Given the description of an element on the screen output the (x, y) to click on. 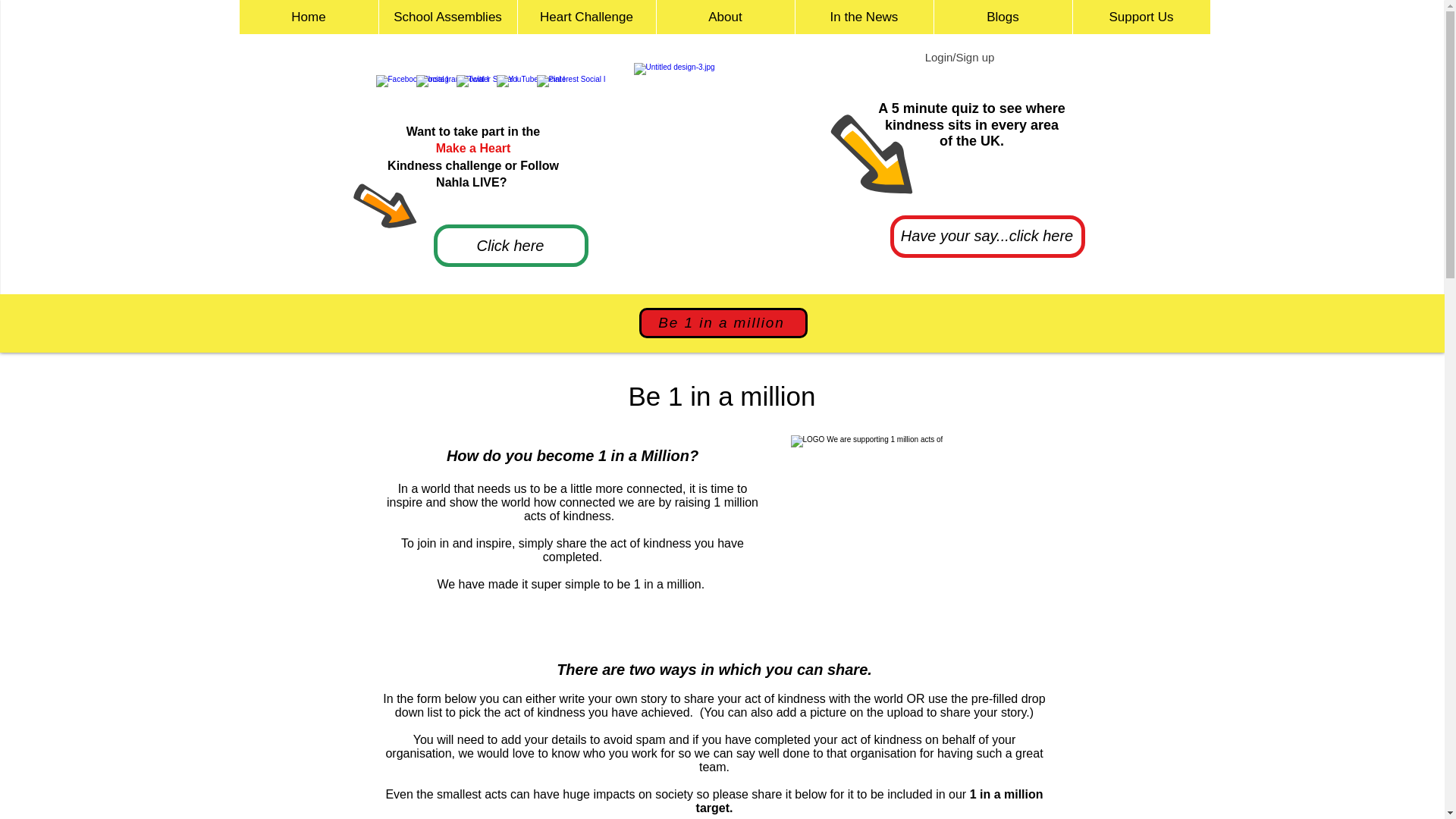
Be 1 in a million (722, 322)
Click here (509, 245)
Have your say...click here (987, 235)
Heart Challenge (586, 17)
In the News (863, 17)
School Assemblies (446, 17)
Blogs (1002, 17)
Home (309, 17)
About (724, 17)
Support Us (1140, 17)
